Given the description of an element on the screen output the (x, y) to click on. 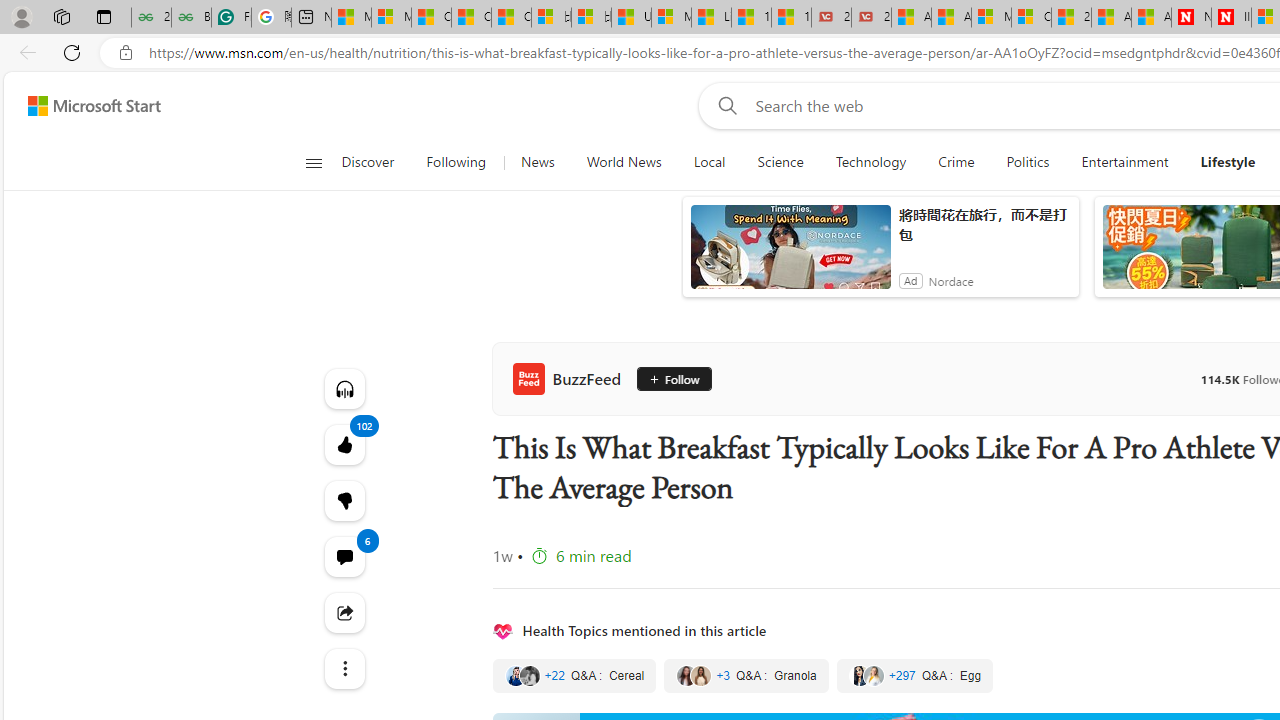
BuzzFeed (570, 378)
